Given the description of an element on the screen output the (x, y) to click on. 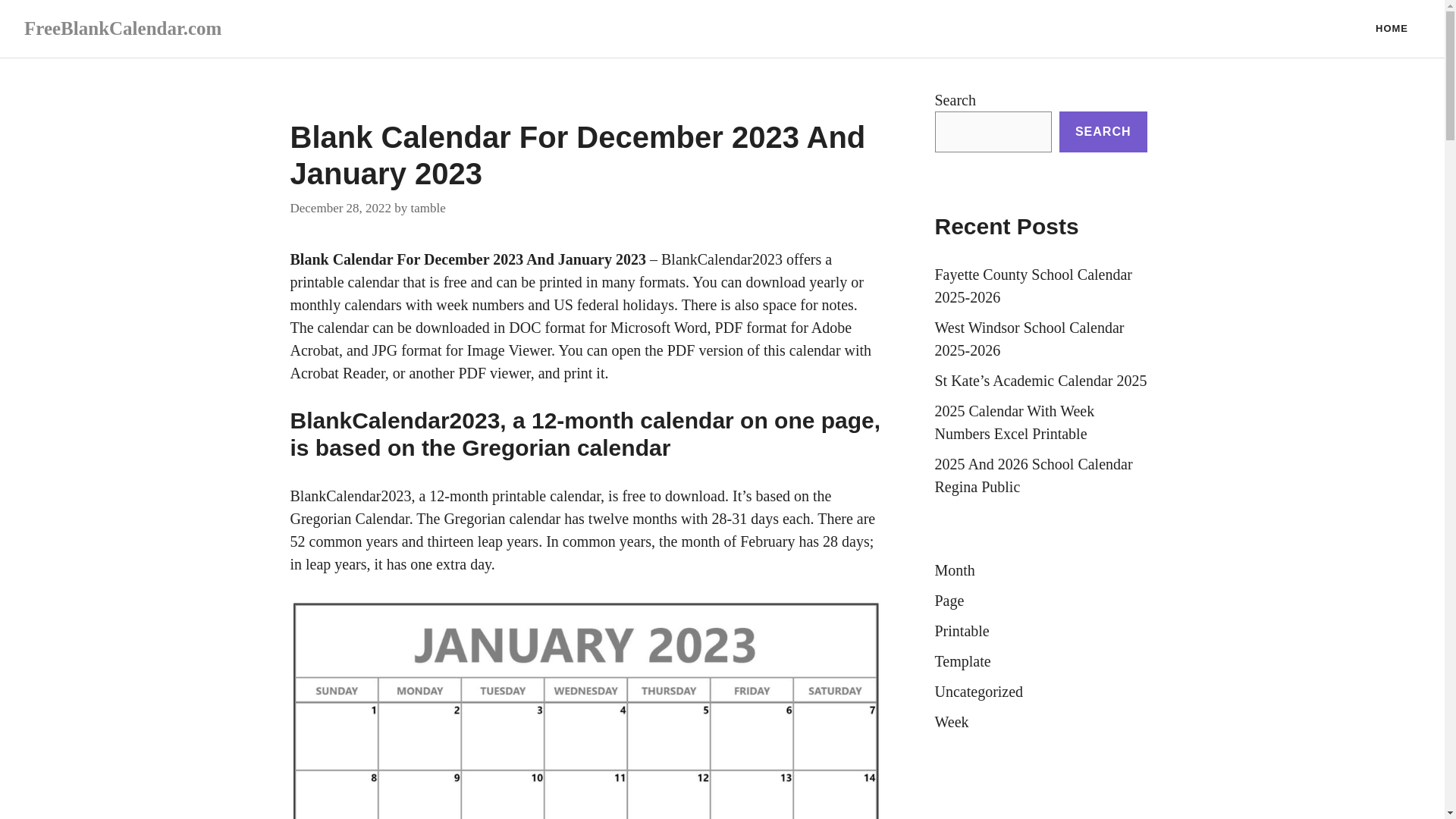
Week (951, 721)
Month (954, 569)
Blank Calendar For December 2023 And January 2023 (467, 258)
2025 Calendar With Week Numbers Excel Printable (1014, 422)
Printable (961, 630)
tamble (427, 206)
West Windsor School Calendar 2025-2026 (1029, 338)
Page (948, 600)
FreeBlankCalendar.com (122, 28)
Fayette County School Calendar 2025-2026 (1033, 285)
